Given the description of an element on the screen output the (x, y) to click on. 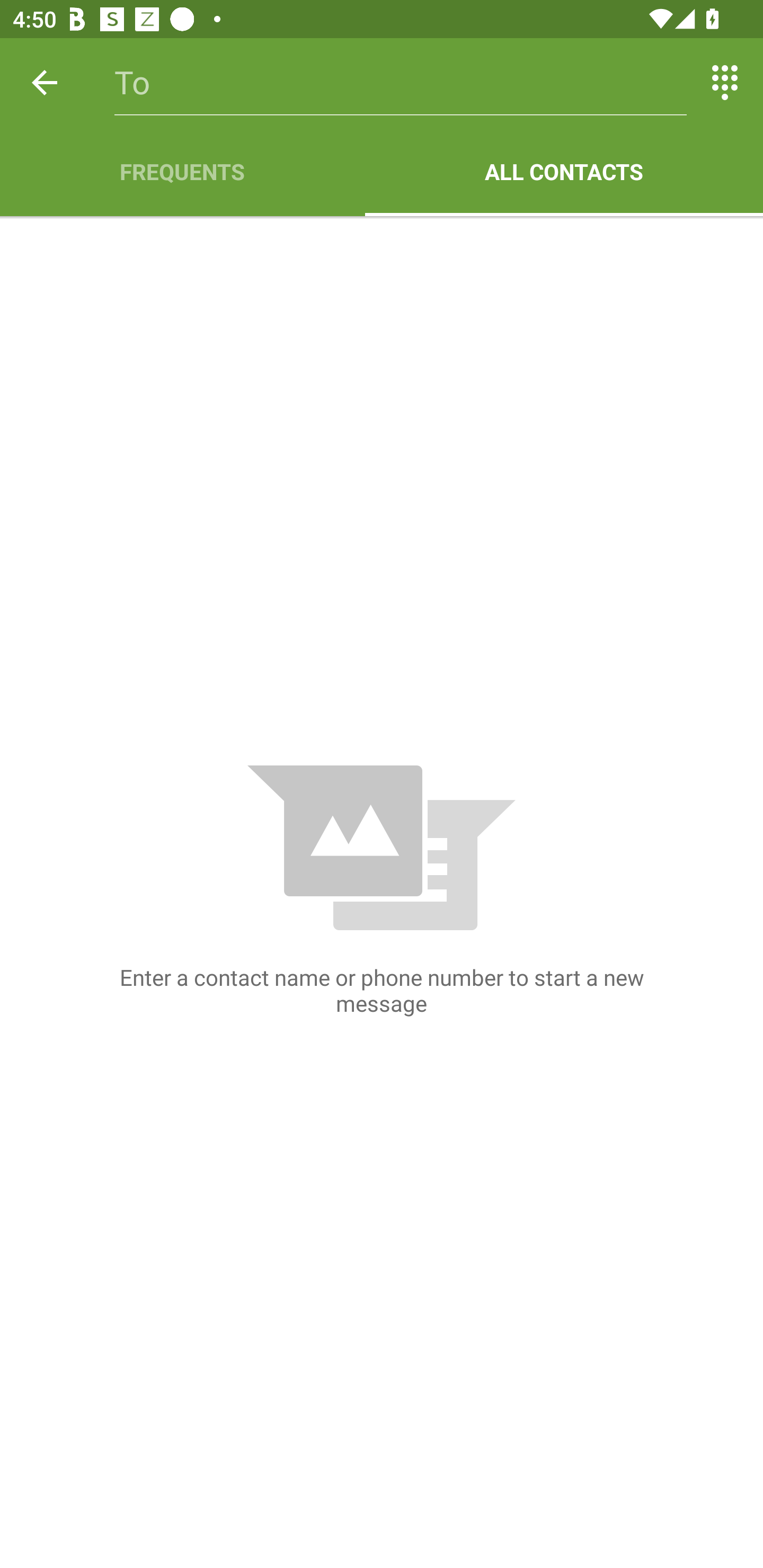
Back (44, 82)
Switch between entering text and numbers (724, 81)
To (400, 82)
FREQUENTS (182, 171)
ALL CONTACTS (563, 171)
